Given the description of an element on the screen output the (x, y) to click on. 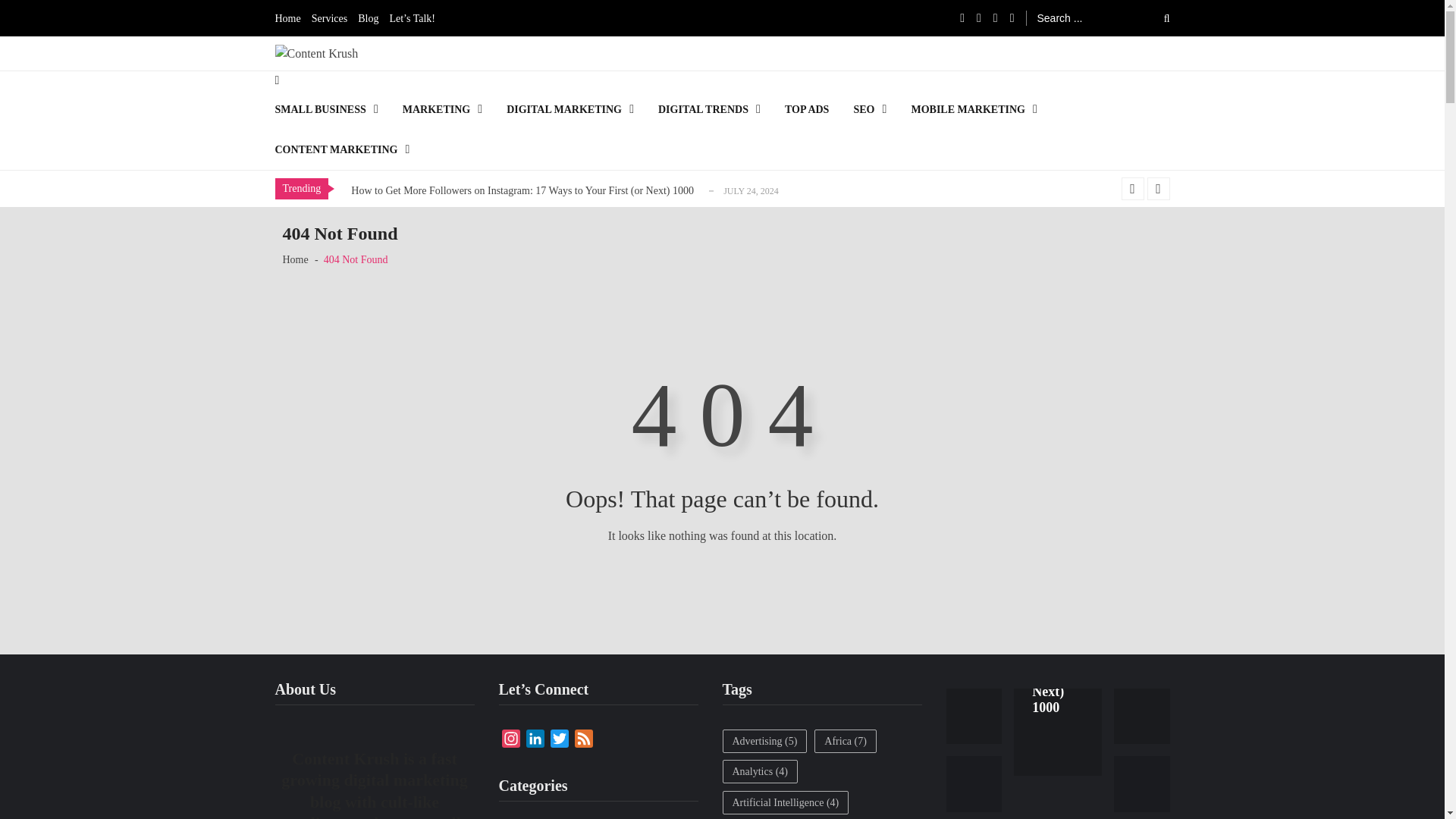
Search (1156, 17)
Search (1156, 17)
